Given the description of an element on the screen output the (x, y) to click on. 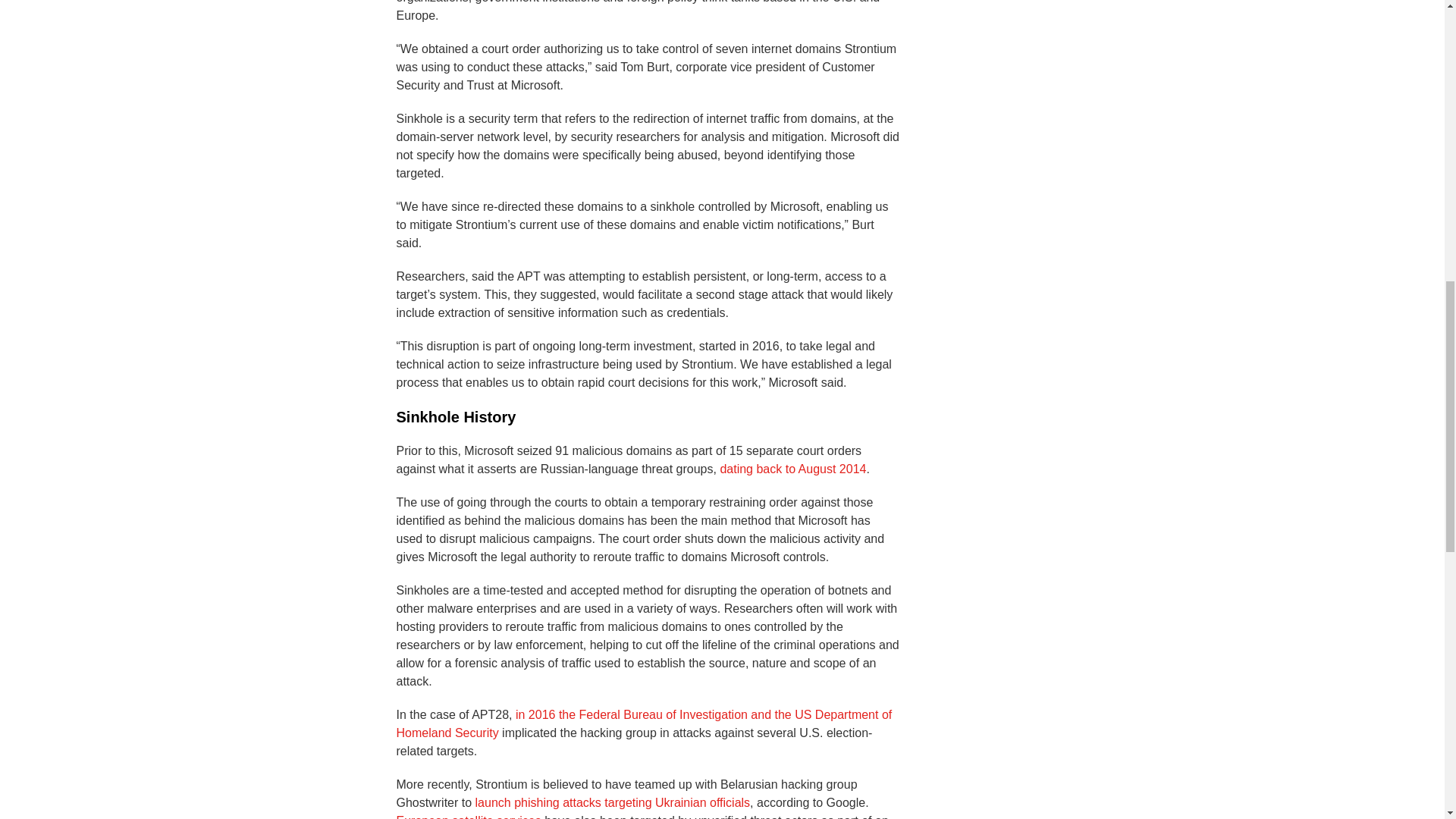
European satellite services (468, 816)
launch phishing attacks targeting Ukrainian officials (613, 802)
dating back to August 2014 (792, 468)
